Given the description of an element on the screen output the (x, y) to click on. 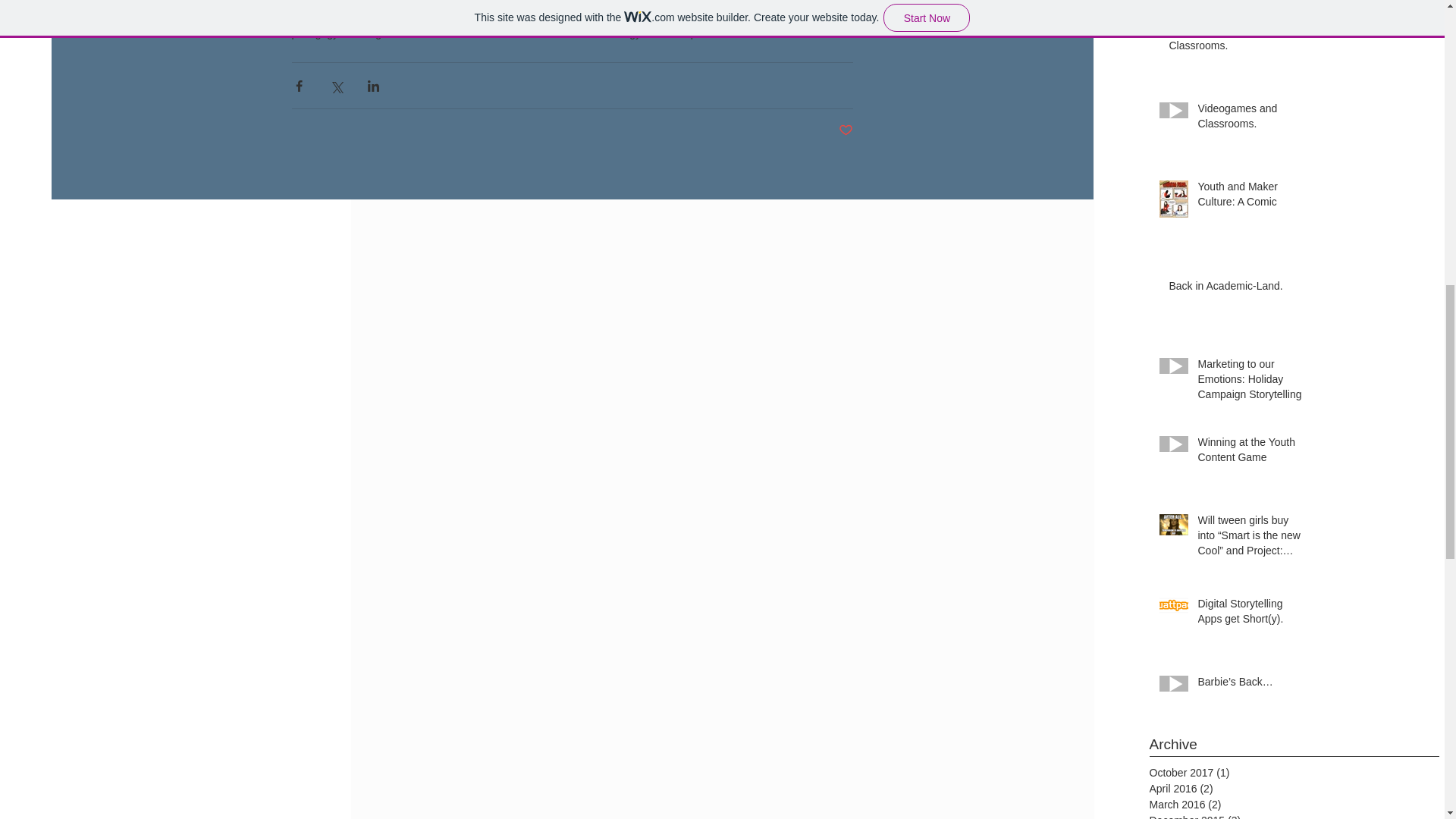
Videogames and Classrooms. (1252, 119)
Marketing to our Emotions: Holiday Campaign Storytelling (1252, 382)
educational technologyu (589, 33)
Post not marked as liked (845, 130)
Gamification and Classrooms. (1238, 40)
Back in Academic-Land. (1238, 289)
curriculum (440, 33)
video games (377, 33)
classroom (498, 33)
pedagogy (314, 33)
